Given the description of an element on the screen output the (x, y) to click on. 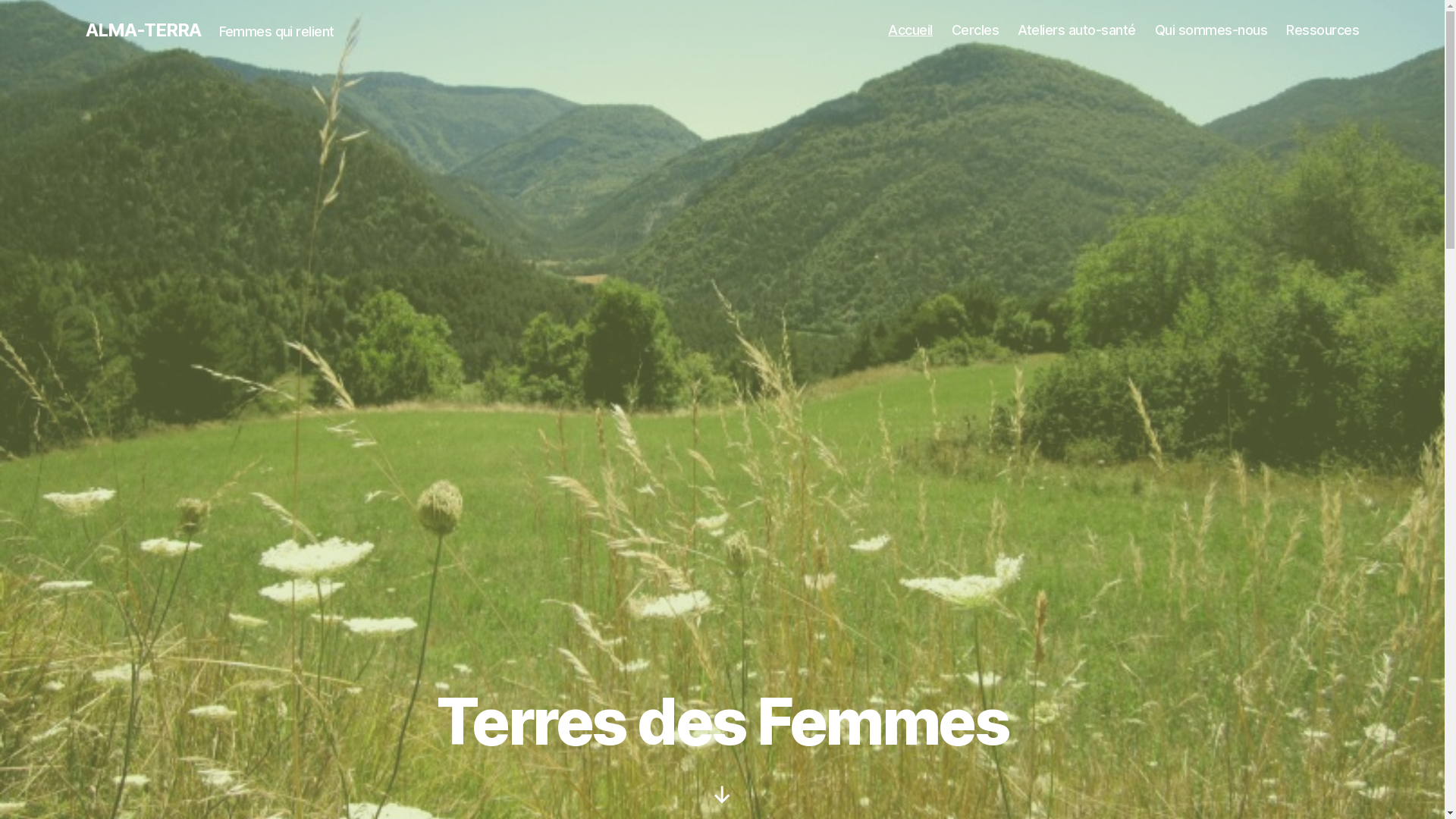
Ressources Element type: text (1322, 29)
Qui sommes-nous Element type: text (1210, 29)
Cercles Element type: text (975, 29)
Accueil Element type: text (910, 29)
ALMA-TERRA Element type: text (142, 30)
